Given the description of an element on the screen output the (x, y) to click on. 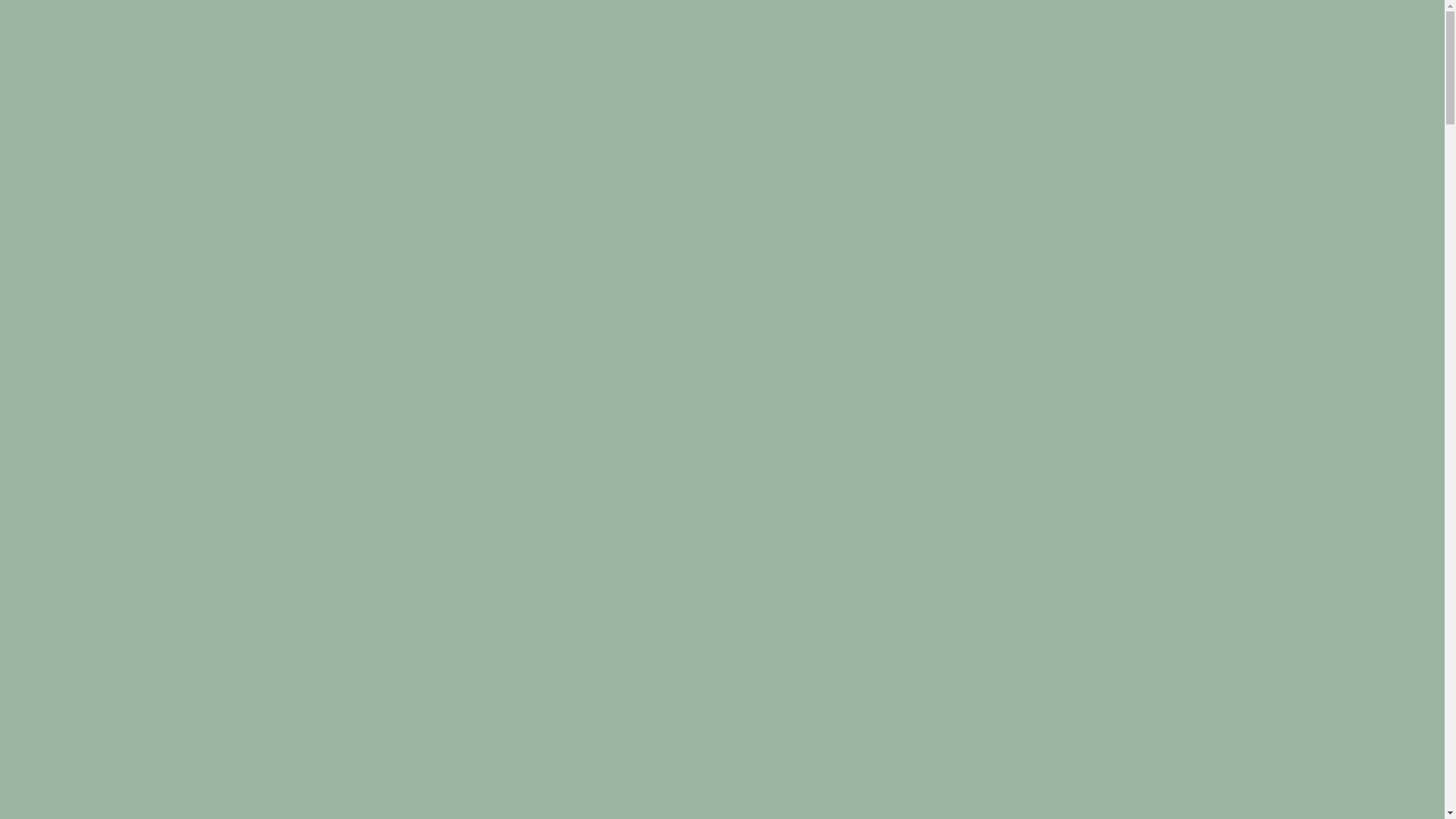
ONLINE COURSES Element type: text (1217, 58)
FOREST BATHING Element type: text (1098, 58)
PILATES Element type: text (847, 58)
EOL TV Element type: text (1288, 74)
YIN YOGA Element type: text (634, 58)
ALUMNI Element type: text (1304, 58)
SHOP Element type: text (1420, 74)
UPCOMING Element type: text (1142, 74)
CORPORATE Element type: text (1222, 74)
YOGA 200HR Element type: text (334, 58)
CONTACT US Element type: text (1358, 74)
BARRE & PILATES PROPS Element type: text (957, 58)
HOME Element type: text (1418, 26)
YOGA SEQUENCING & ADJUSTING Element type: text (488, 58)
HERE Element type: text (641, 413)
ACADEMY HOME Element type: text (234, 58)
HERE Element type: text (619, 439)
YOGA 300HR PATHWAY Element type: text (743, 58)
CLASSES Element type: text (1073, 74)
ACADEMY Element type: text (1403, 42)
Log In Element type: text (24, 90)
ACADEMY FAQs Element type: text (1386, 58)
